Given the description of an element on the screen output the (x, y) to click on. 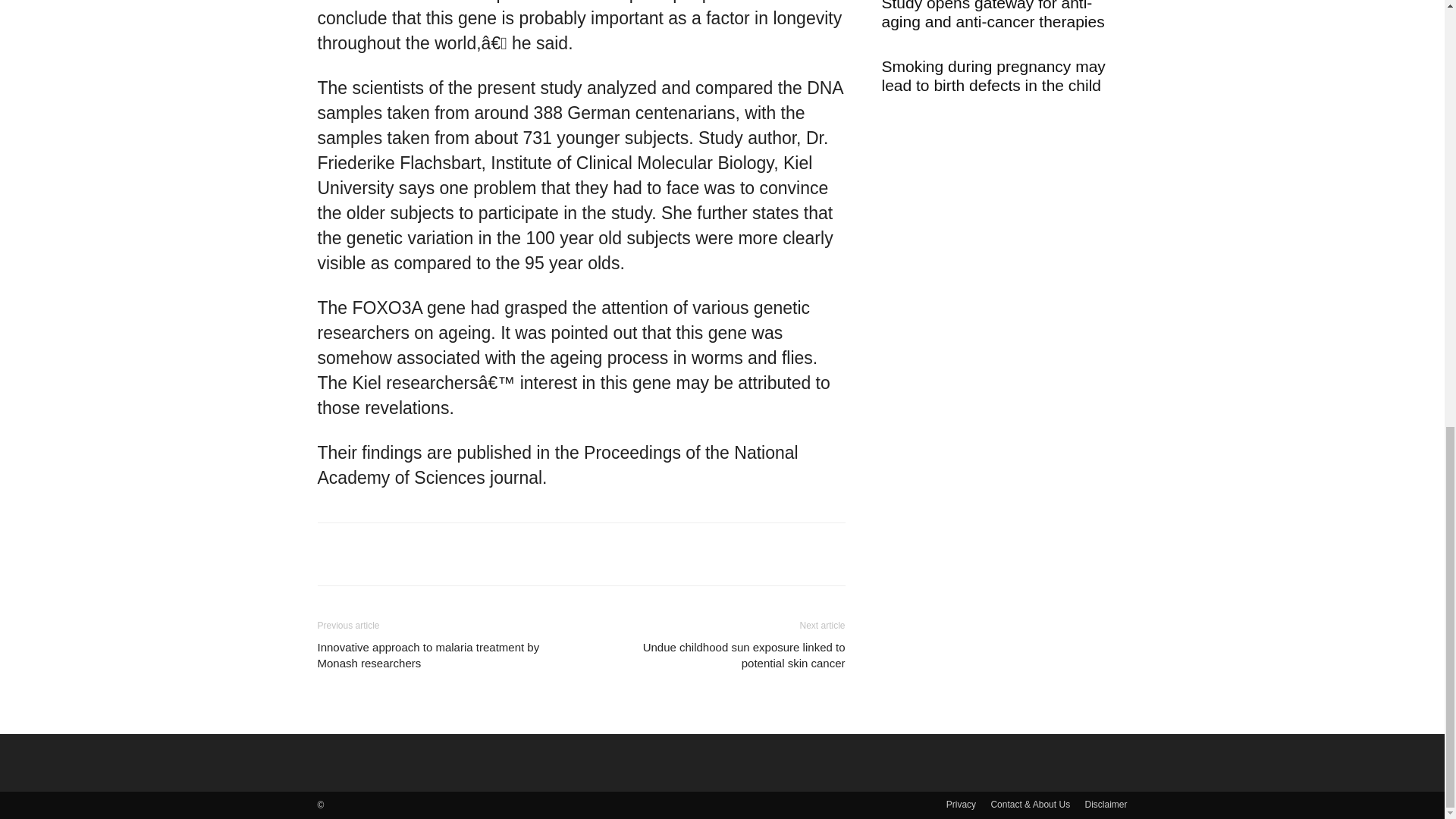
Study opens gateway for anti-aging and anti-cancer therapies (991, 15)
